Given the description of an element on the screen output the (x, y) to click on. 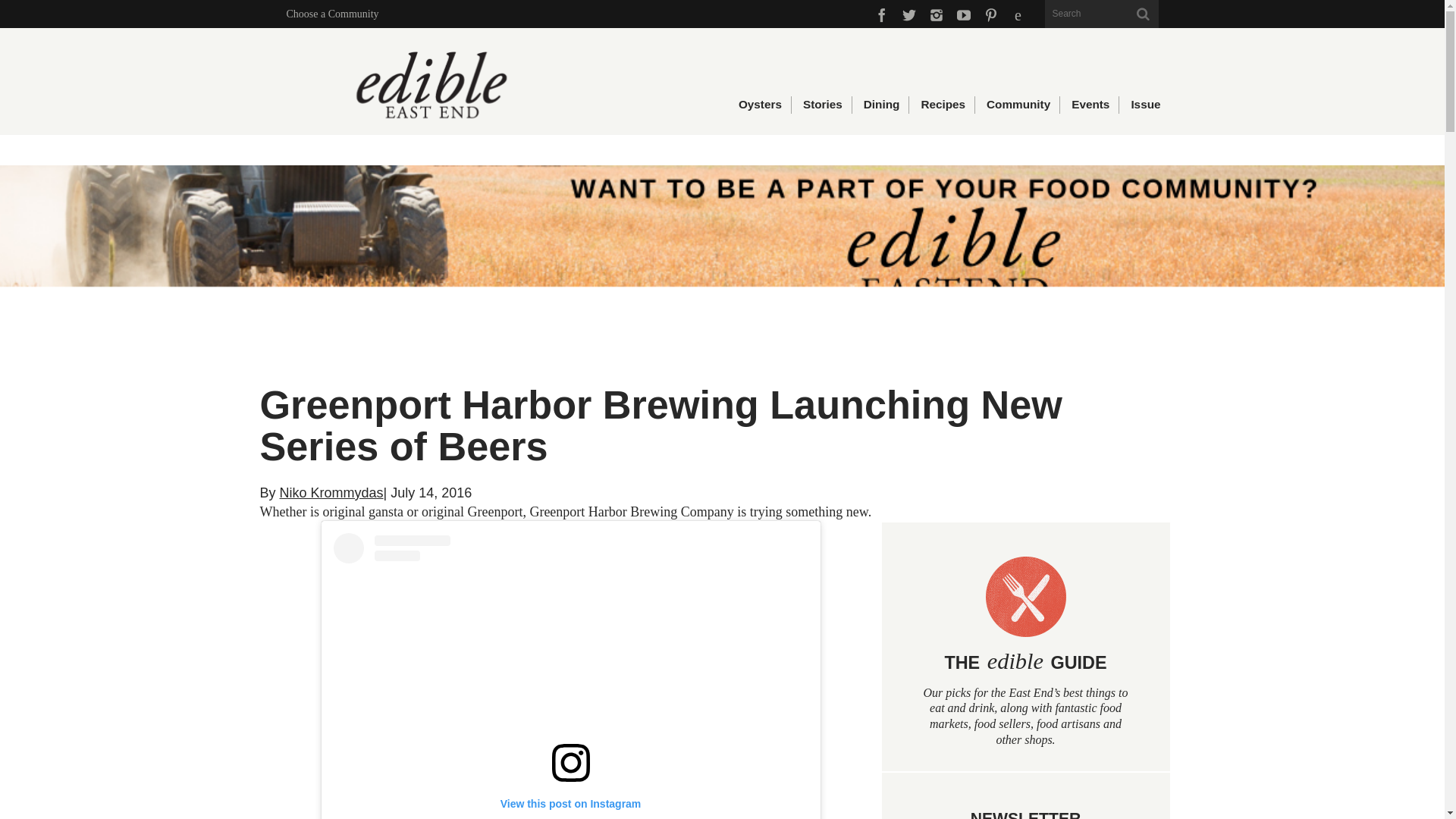
Oysters (759, 104)
Recipes (941, 104)
Community (1017, 104)
The Edible Guide (1025, 646)
Niko Krommydas (331, 492)
Search (1101, 13)
Dining (880, 104)
Issue (1144, 104)
Choose a Community (332, 13)
